Given the description of an element on the screen output the (x, y) to click on. 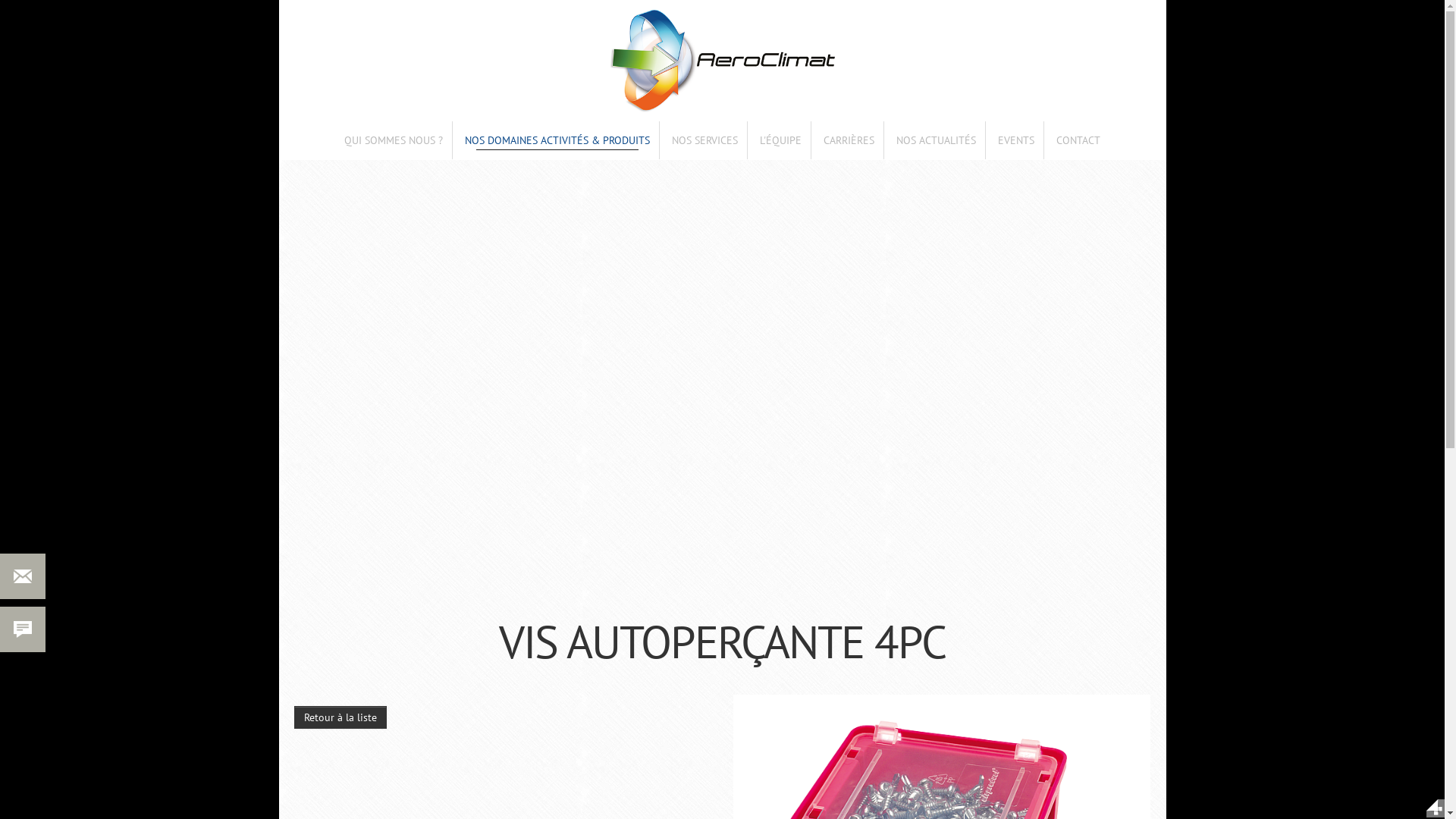
EVENTS Element type: text (1016, 140)
QUI SOMMES NOUS ? Element type: text (393, 140)
CONTACT Element type: text (1078, 140)
NOS SERVICES Element type: text (704, 140)
